Given the description of an element on the screen output the (x, y) to click on. 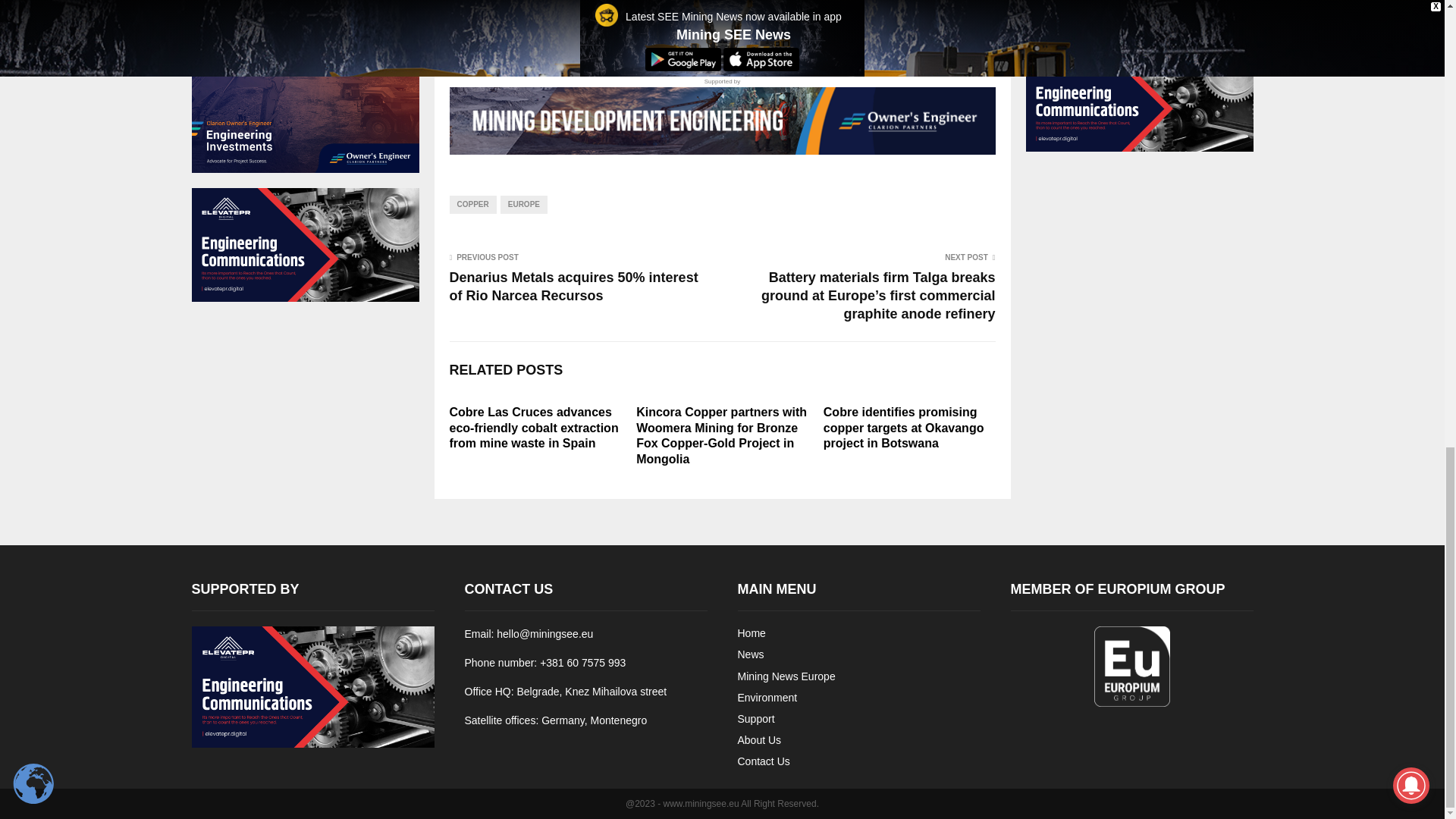
Supported by (721, 115)
EUROPE (523, 204)
COPPER (472, 204)
